Given the description of an element on the screen output the (x, y) to click on. 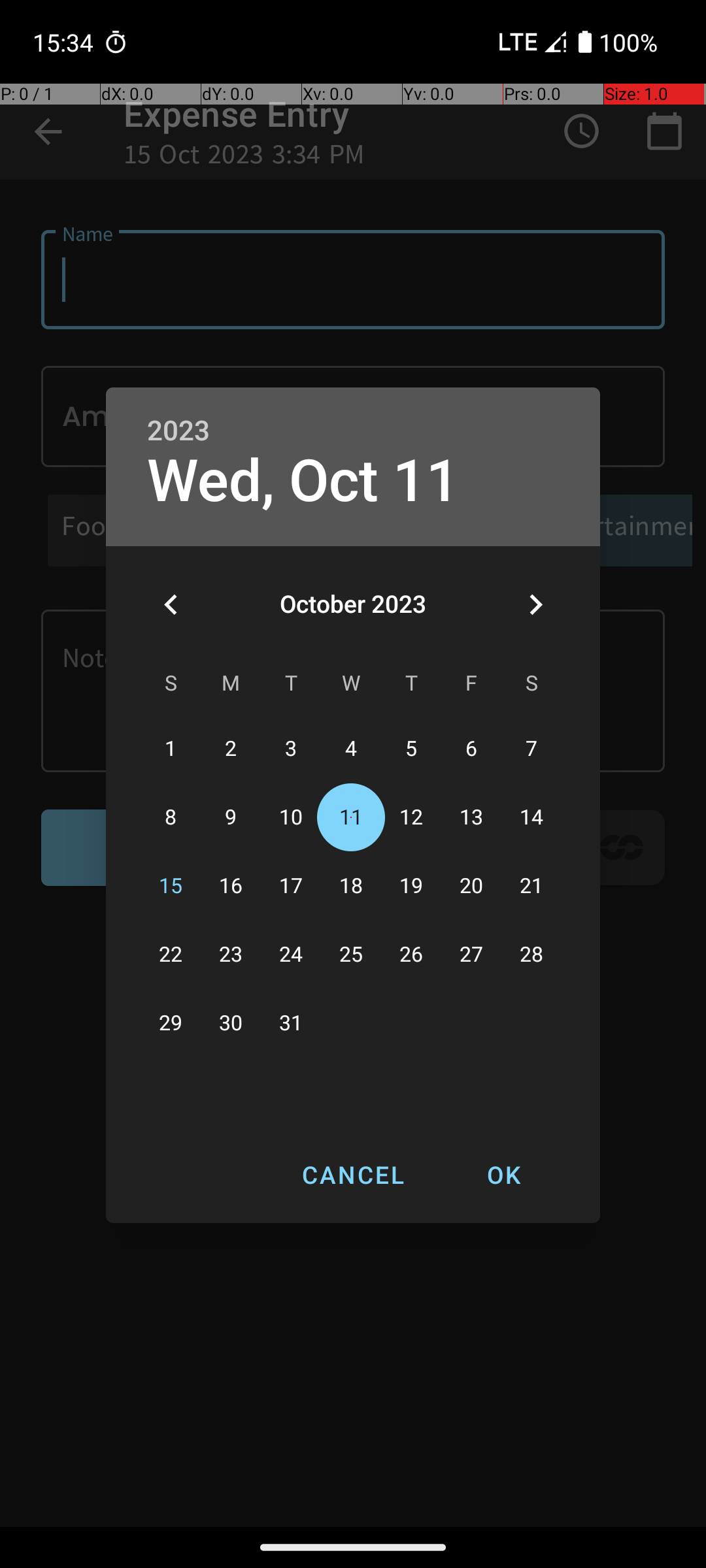
Wed, Oct 11 Element type: android.widget.TextView (303, 480)
